Given the description of an element on the screen output the (x, y) to click on. 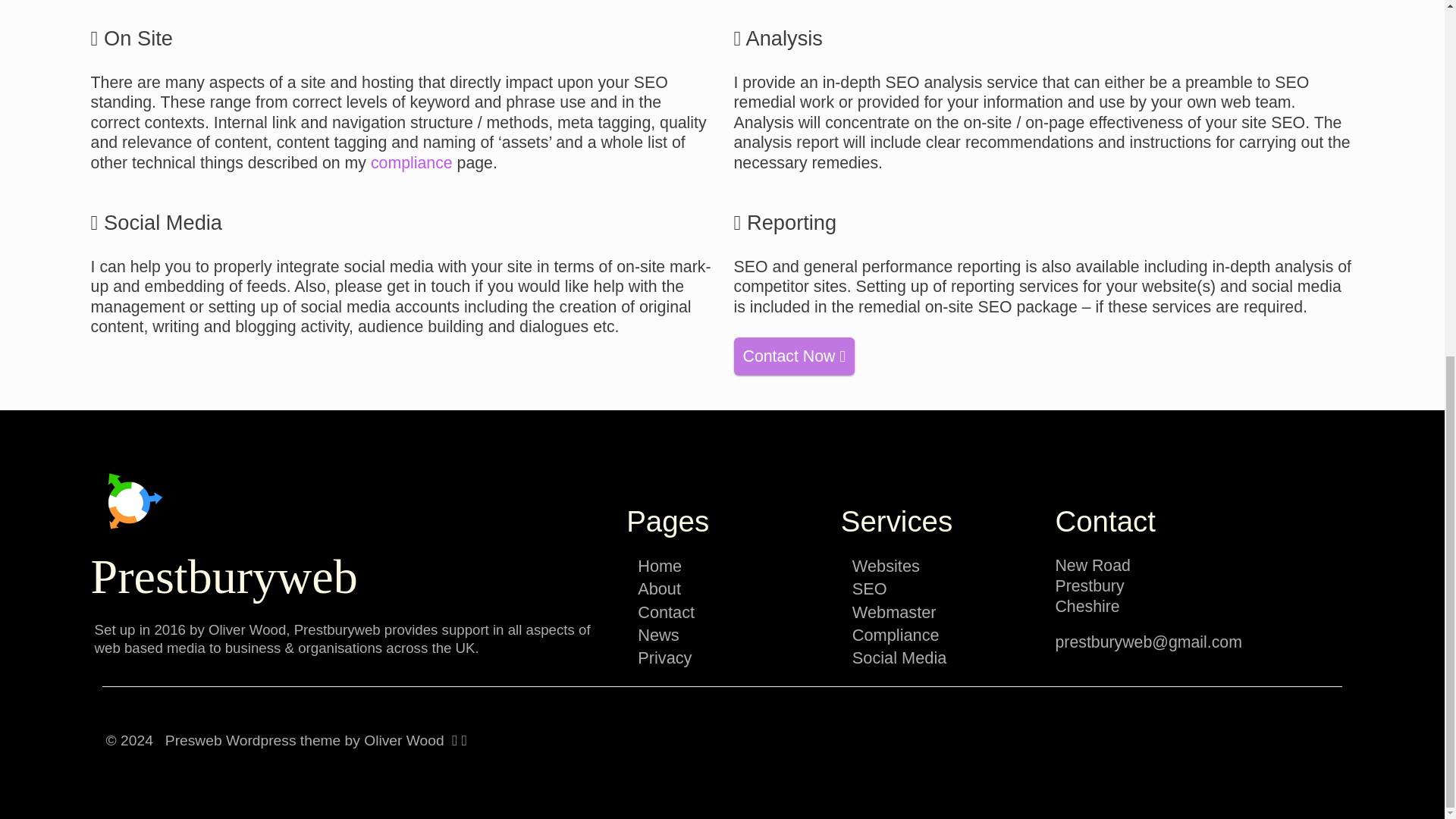
Webmaster (893, 611)
compliance (411, 162)
Websites (885, 565)
Home (659, 565)
SEO (868, 588)
News (657, 634)
About (659, 588)
Social Media (899, 657)
Compliance (895, 634)
Contact Now (794, 356)
Privacy (664, 657)
Contact (665, 611)
